Given the description of an element on the screen output the (x, y) to click on. 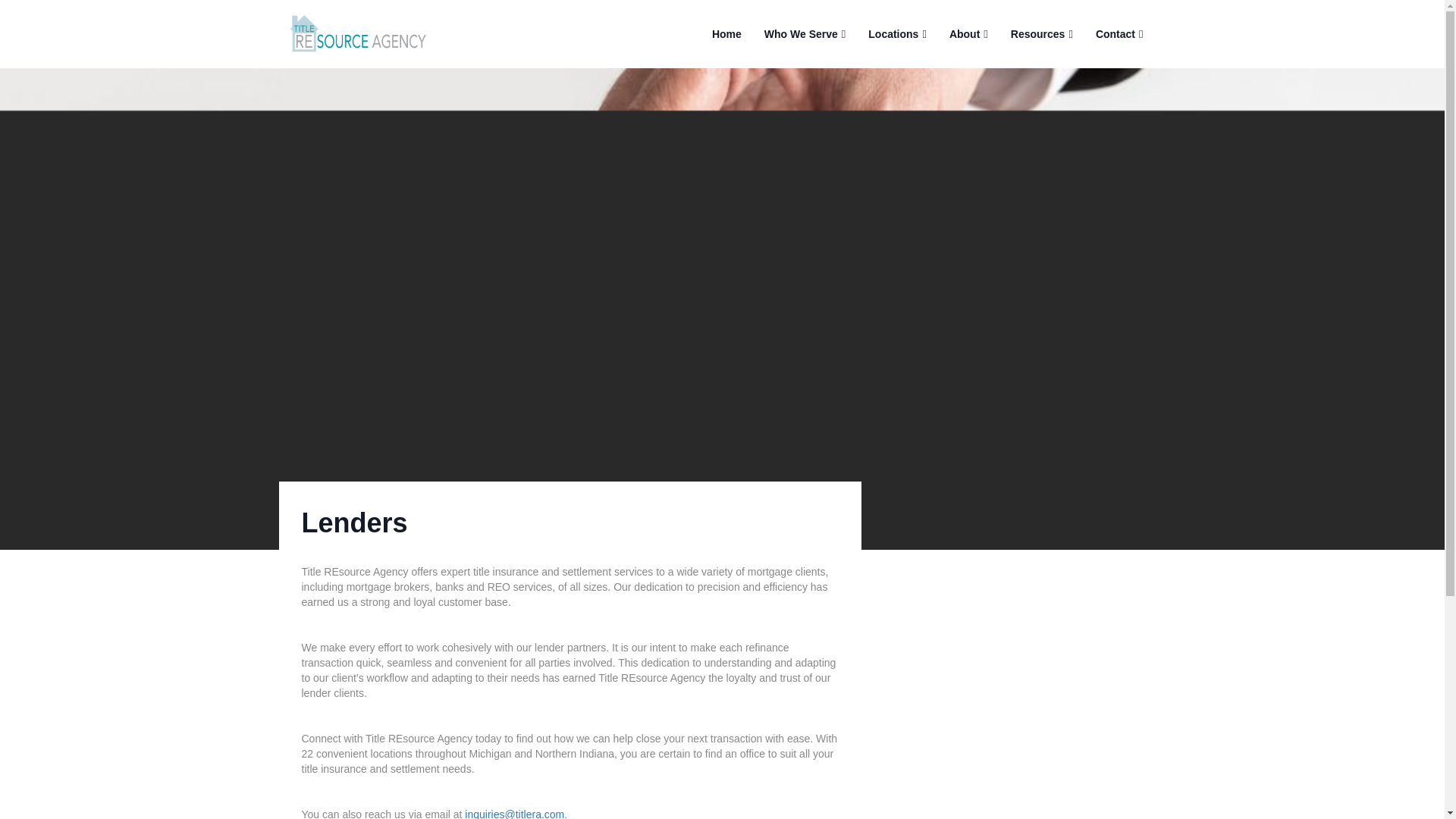
Locations (896, 27)
Who We Serve (804, 27)
Resources (1041, 27)
Title Resource Agency (363, 33)
